Given the description of an element on the screen output the (x, y) to click on. 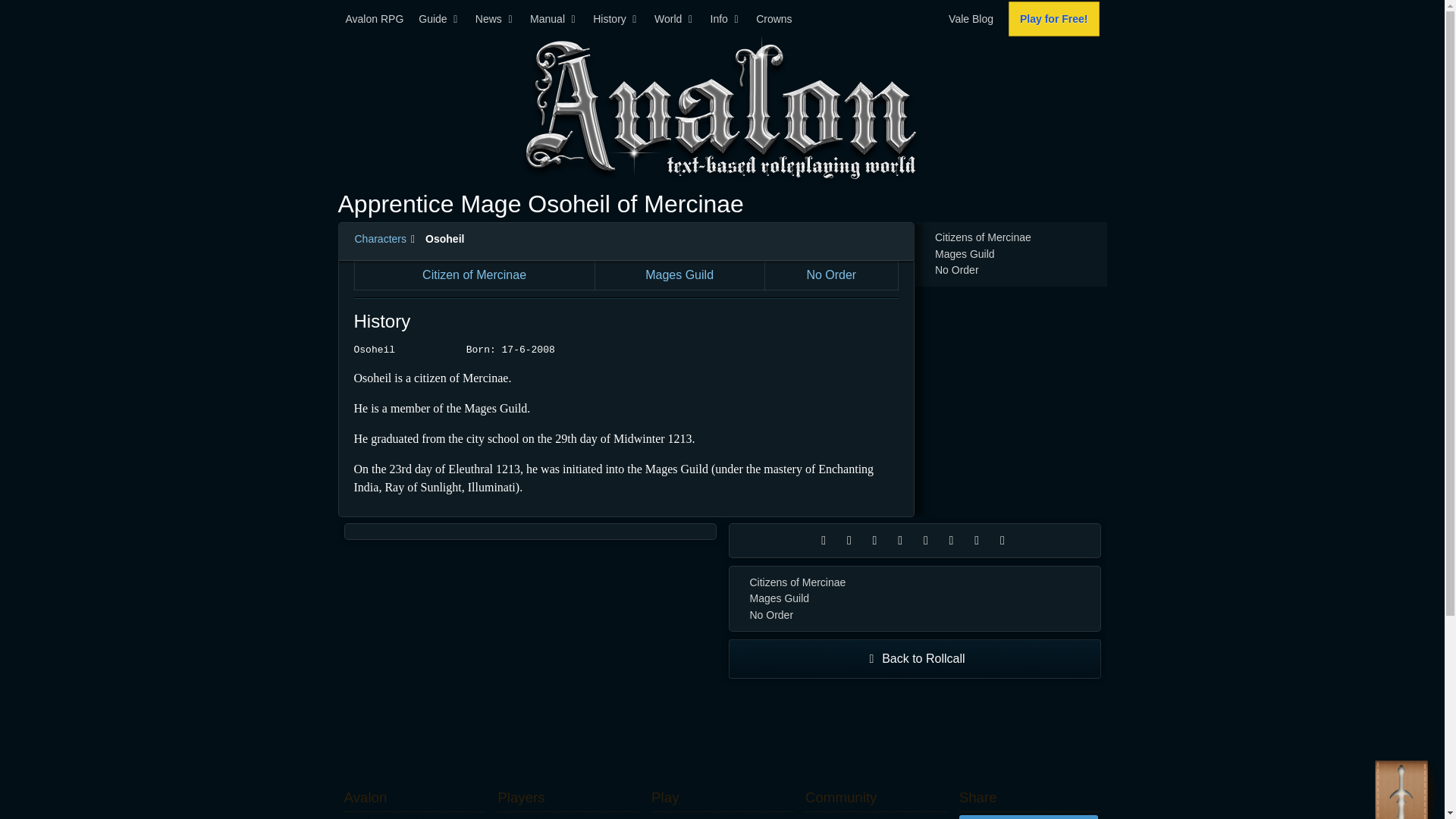
Citizens of Mercinae (914, 582)
Avalon - online RPG world (721, 107)
Play Now (721, 816)
No Order (914, 615)
Save on Delicious (953, 539)
Share on Tumblr (1003, 539)
Share on Stumbleupon (978, 539)
Citizens of Mercinae (1011, 238)
Characters (380, 238)
Mages Guild (914, 598)
